Given the description of an element on the screen output the (x, y) to click on. 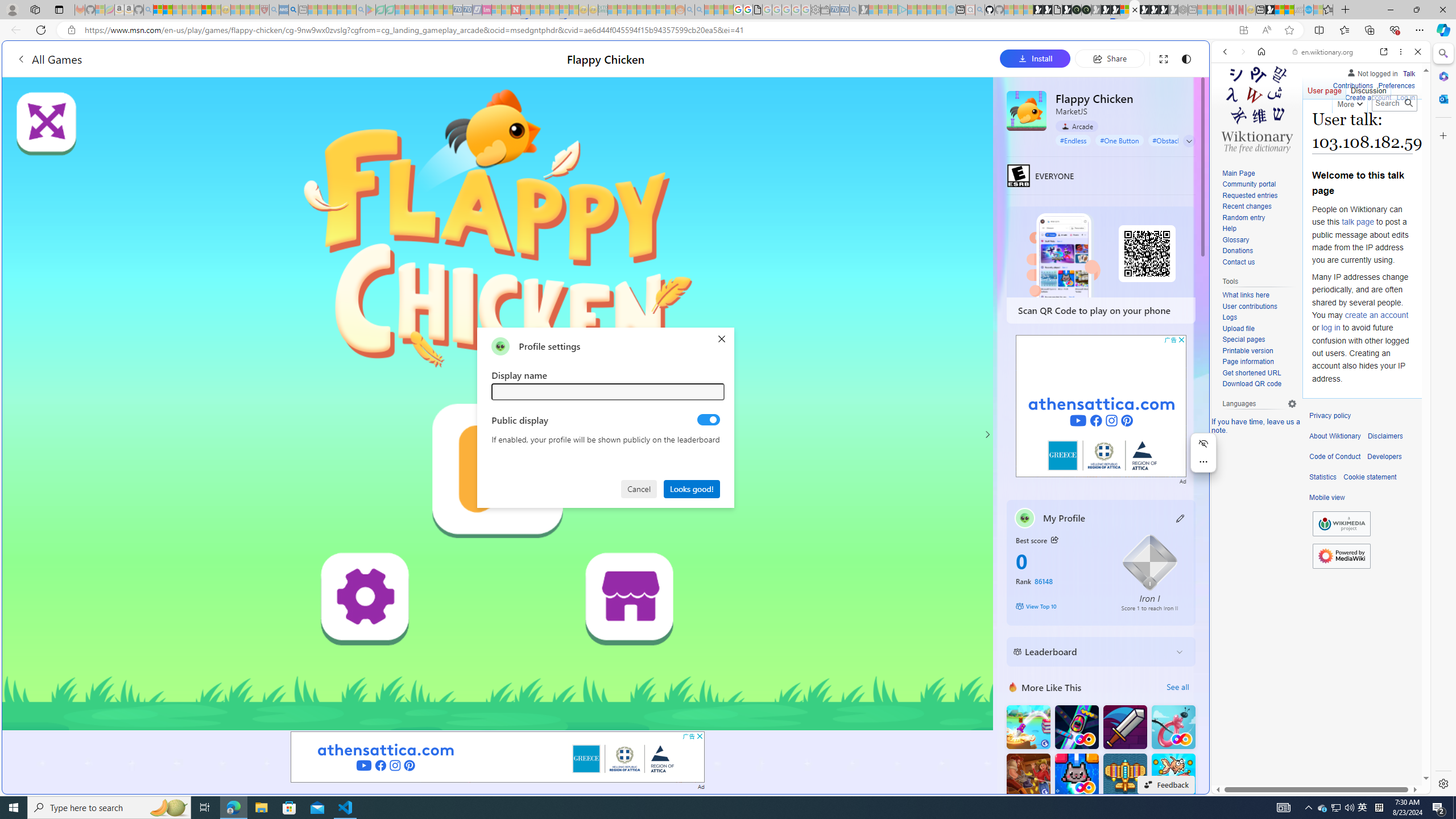
Printable version (1259, 351)
Local - MSN - Sleeping (254, 9)
Services - Maintenance | Sky Blue Bikes - Sky Blue Bikes (1307, 9)
Wallet - Sleeping (824, 9)
Not logged in (1371, 71)
Balloon FRVR (1173, 726)
Community portal (1248, 184)
See all (1177, 687)
